Given the description of an element on the screen output the (x, y) to click on. 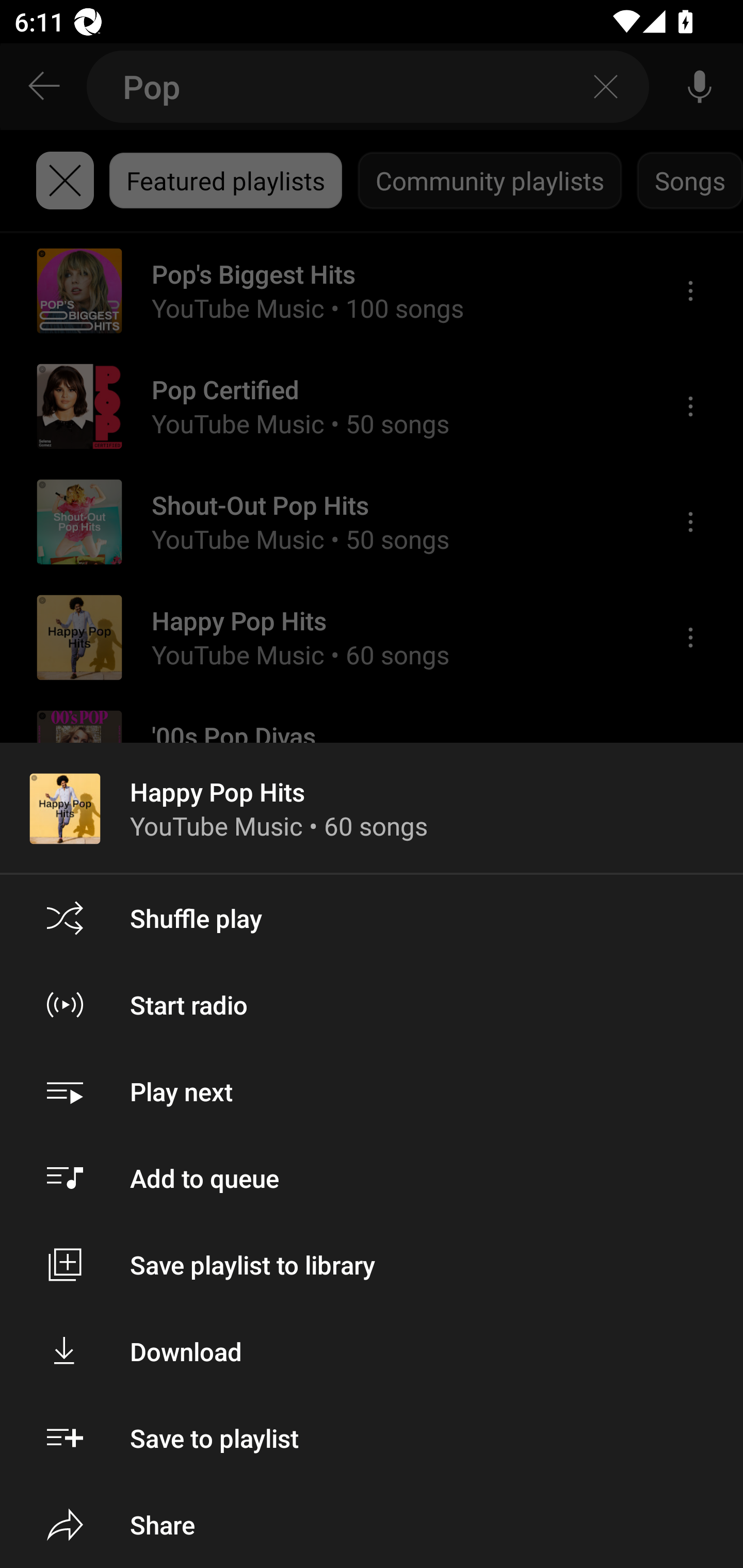
Shuffle play (371, 917)
Start radio (371, 1004)
Play next (371, 1091)
Add to queue (371, 1178)
Save playlist to library (371, 1264)
Download (371, 1350)
Save to playlist (371, 1437)
Share (371, 1524)
